Given the description of an element on the screen output the (x, y) to click on. 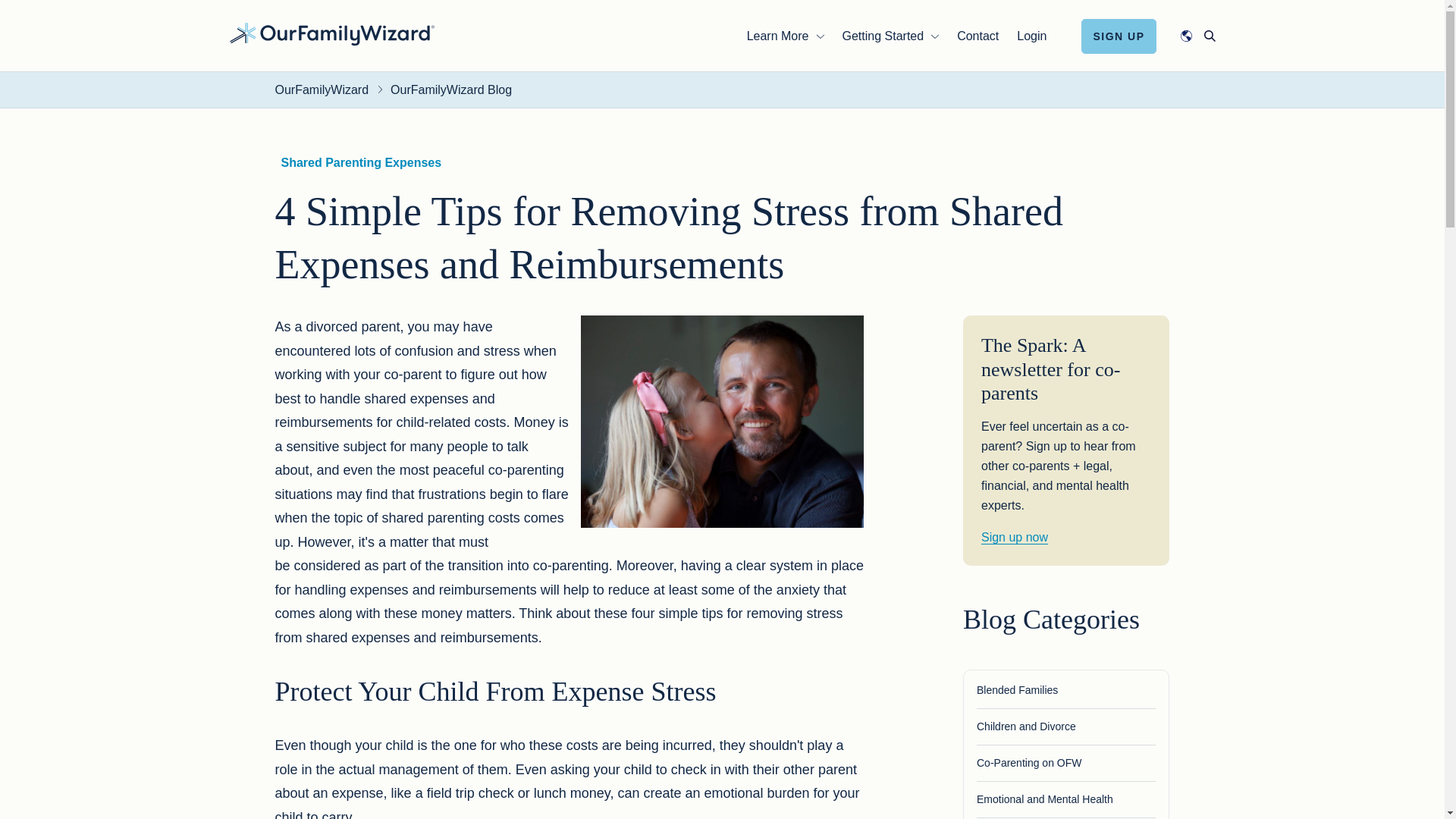
OurFamilyWizard (330, 32)
Contact (977, 35)
SIGN UP (1118, 35)
